Given the description of an element on the screen output the (x, y) to click on. 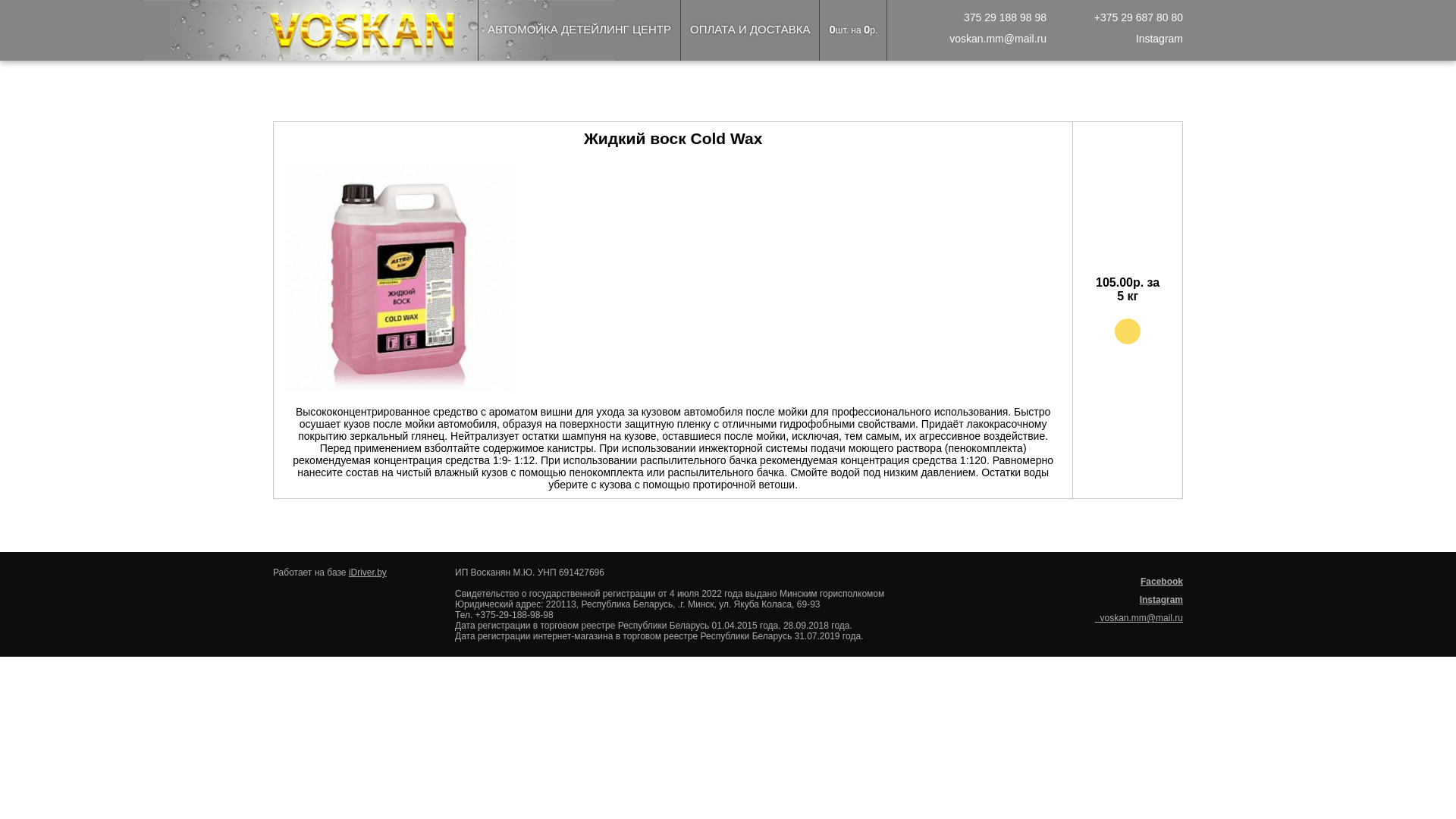
  voskan.mm@mail.ru Element type: text (1139, 617)
Instagram Element type: text (1159, 38)
Instagram Element type: text (1161, 599)
  375 29 188 98 98 Element type: text (1001, 17)
iDriver.by Element type: text (367, 572)
  voskan.mm@mail.ru Element type: text (994, 38)
  +375 29 687 80 80 Element type: text (1135, 17)
Facebook Element type: text (1161, 581)
